Given the description of an element on the screen output the (x, y) to click on. 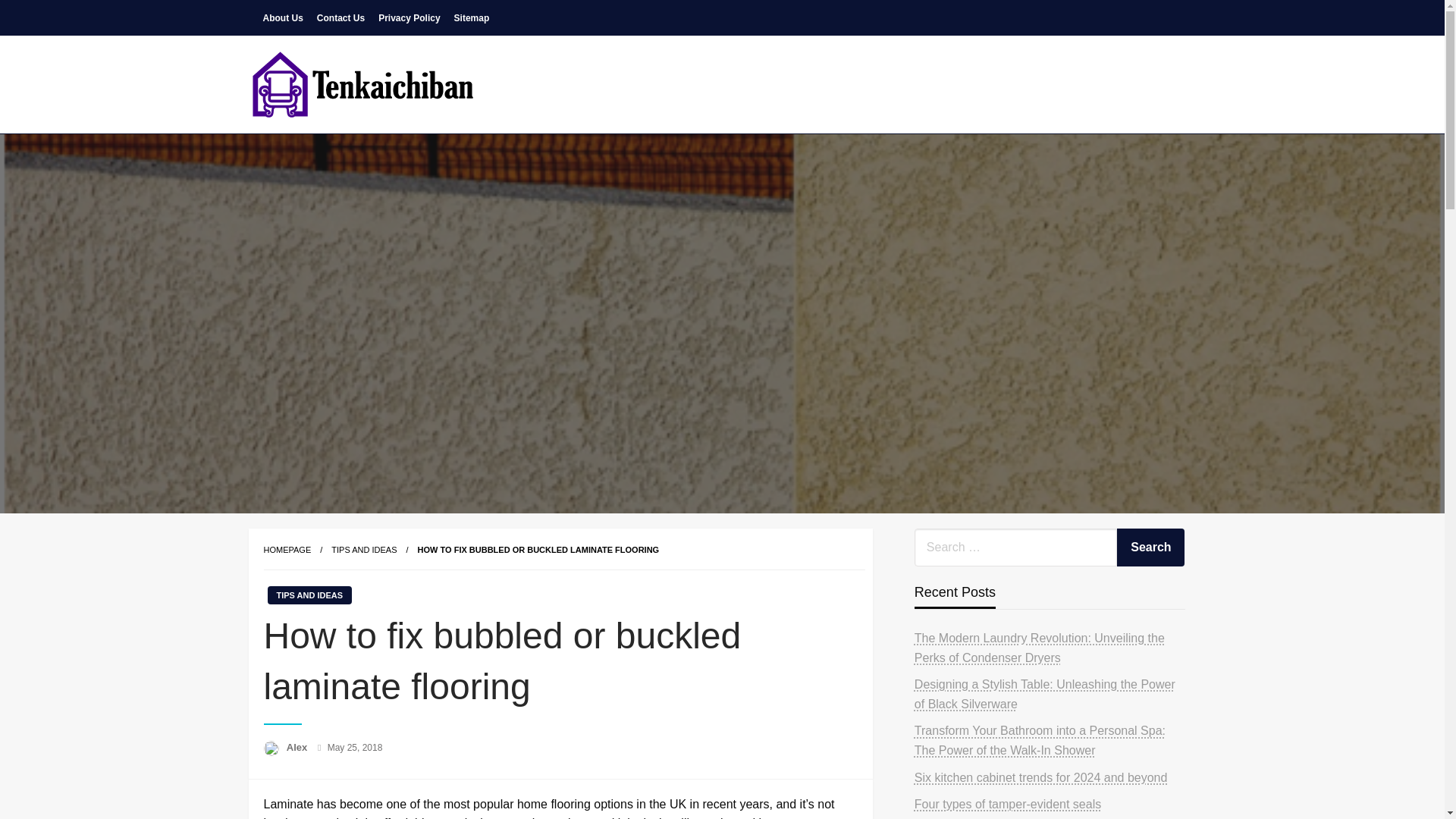
How to fix bubbled or buckled laminate flooring (538, 549)
Alex (298, 747)
Tenkaichiban (337, 145)
Search (1150, 547)
About Us (283, 17)
Tips and Ideas (363, 549)
Contact Us (340, 17)
Privacy Policy (408, 17)
Search (1150, 547)
Sitemap (471, 17)
